Given the description of an element on the screen output the (x, y) to click on. 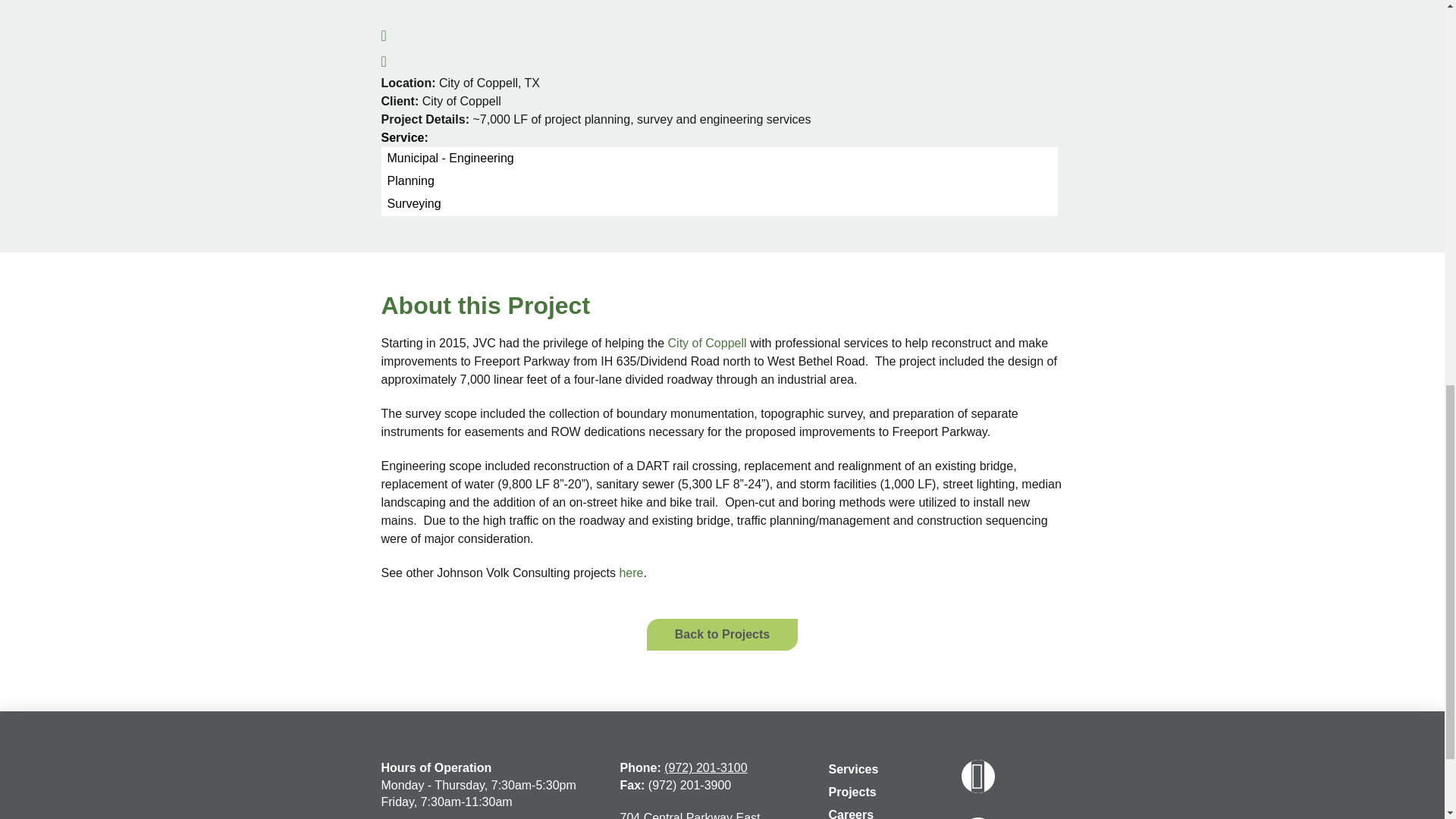
City of Coppell (704, 342)
Back to Projects (721, 634)
Careers (851, 812)
704 Central Parkway East (690, 815)
here (630, 572)
Projects (852, 793)
Services (853, 771)
